Given the description of an element on the screen output the (x, y) to click on. 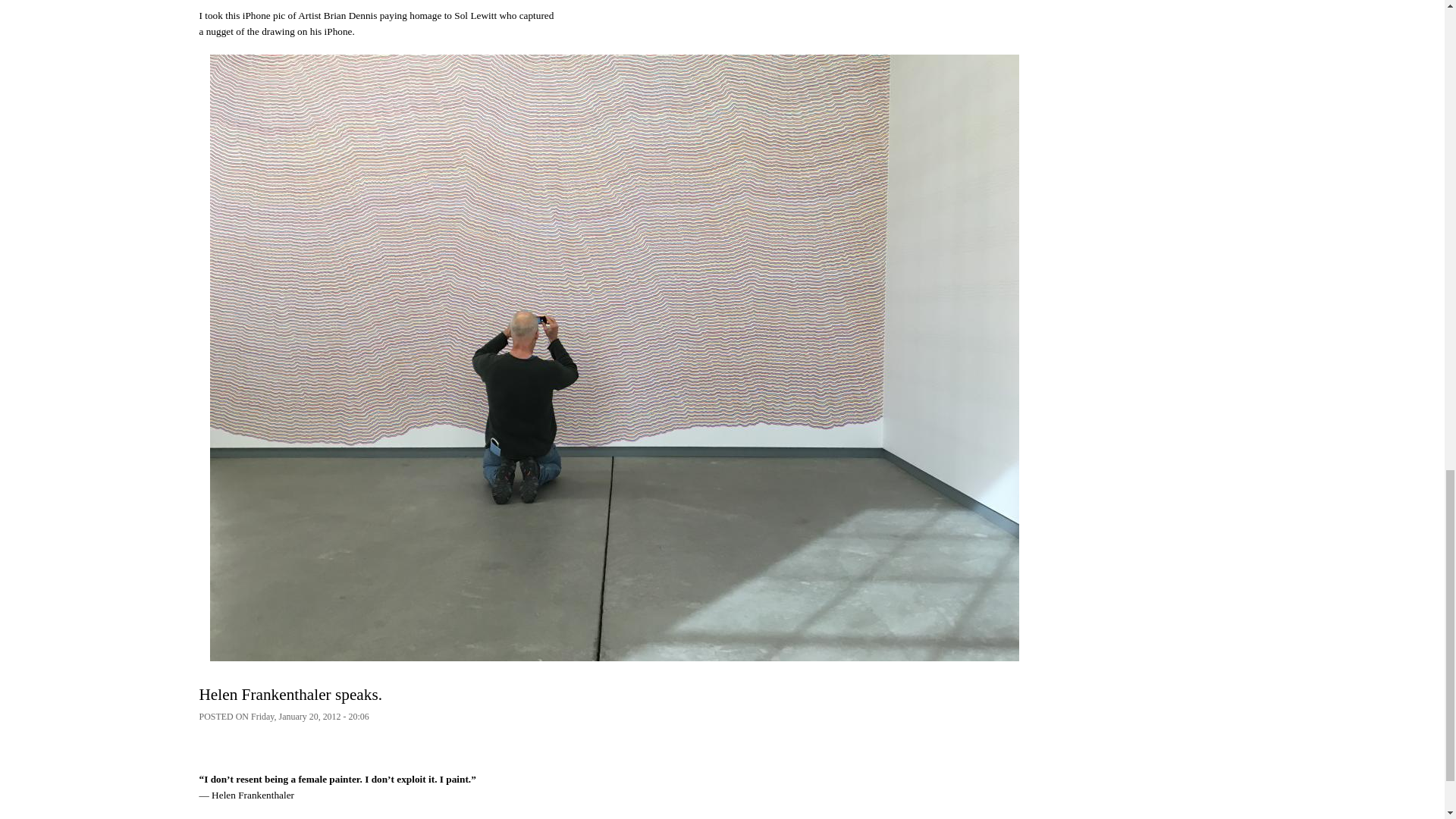
Helen Frankenthaler speaks. (289, 694)
